Given the description of an element on the screen output the (x, y) to click on. 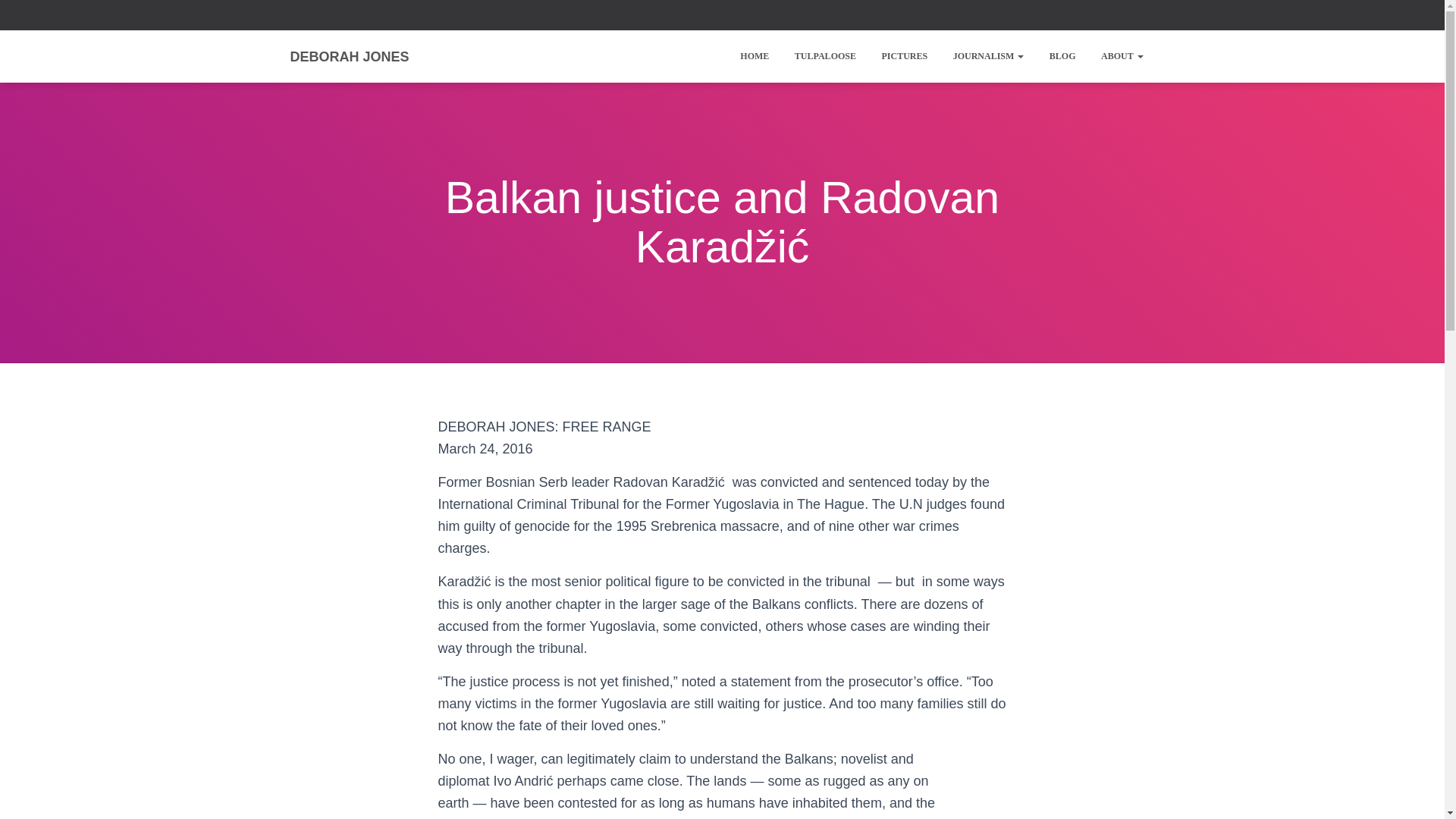
About (1121, 56)
HOME (754, 56)
DEBORAH JONES (349, 56)
Journalism (988, 56)
BLOG (1062, 56)
Pictures (904, 56)
TULPALOOSE (825, 56)
DEBORAH JONES (349, 56)
Home (754, 56)
JOURNALISM (988, 56)
